Given the description of an element on the screen output the (x, y) to click on. 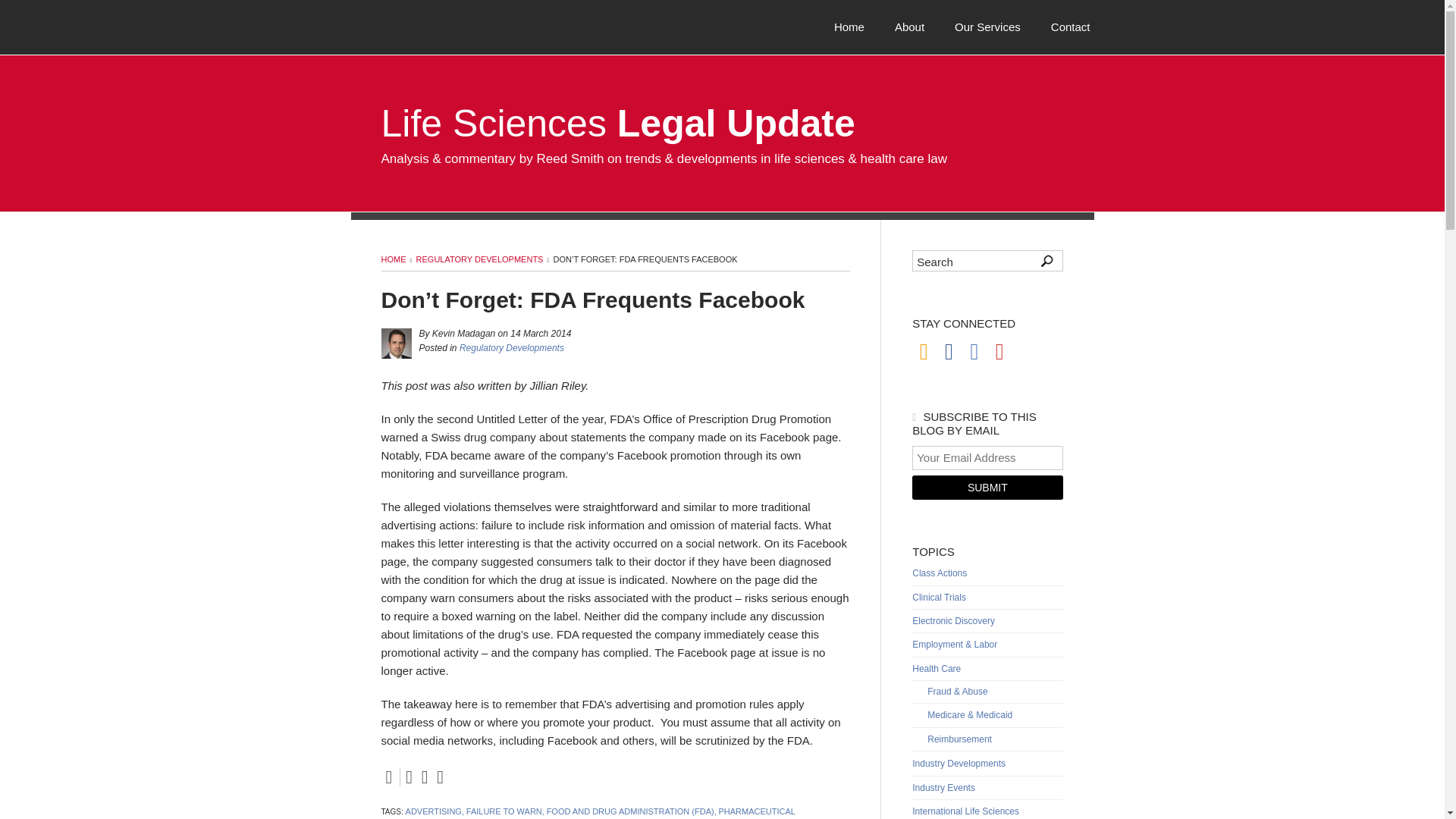
Home (848, 25)
Industry Developments (987, 763)
Go (1045, 260)
Search (956, 260)
Health Care (987, 669)
Electronic Discovery (987, 621)
HOME (393, 258)
Clinical Trials (987, 598)
Submit (987, 487)
